Given the description of an element on the screen output the (x, y) to click on. 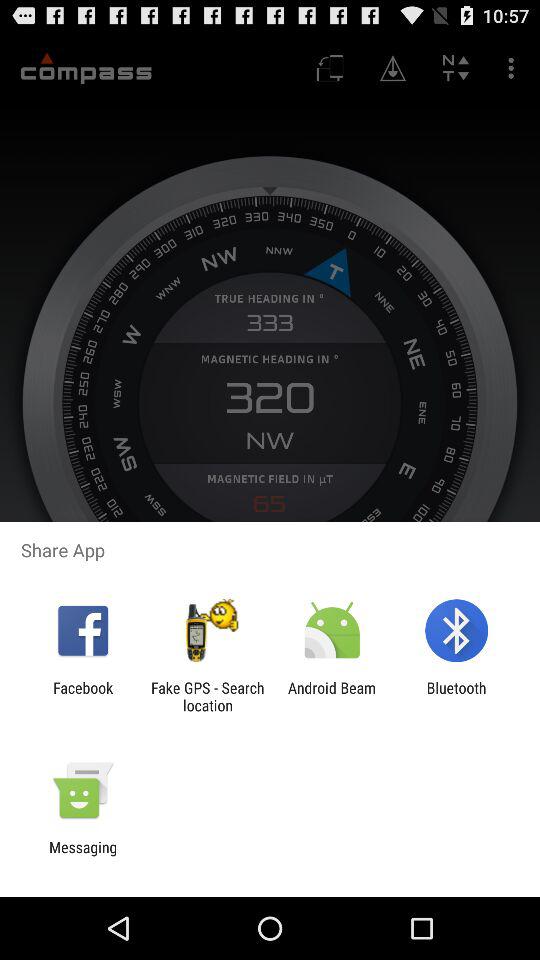
launch the app next to fake gps search (332, 696)
